Given the description of an element on the screen output the (x, y) to click on. 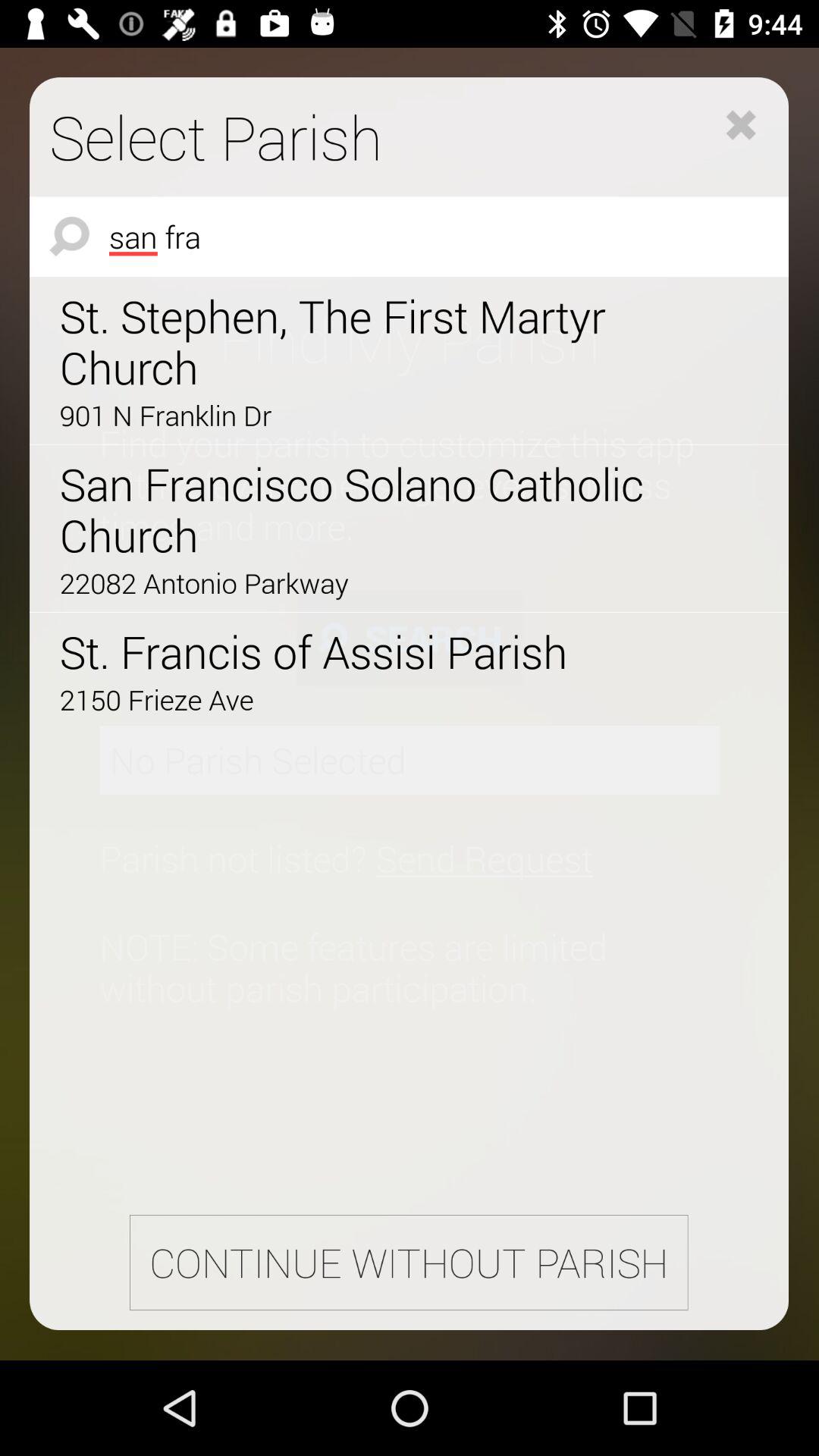
launch icon below the st stephen the item (366, 414)
